Given the description of an element on the screen output the (x, y) to click on. 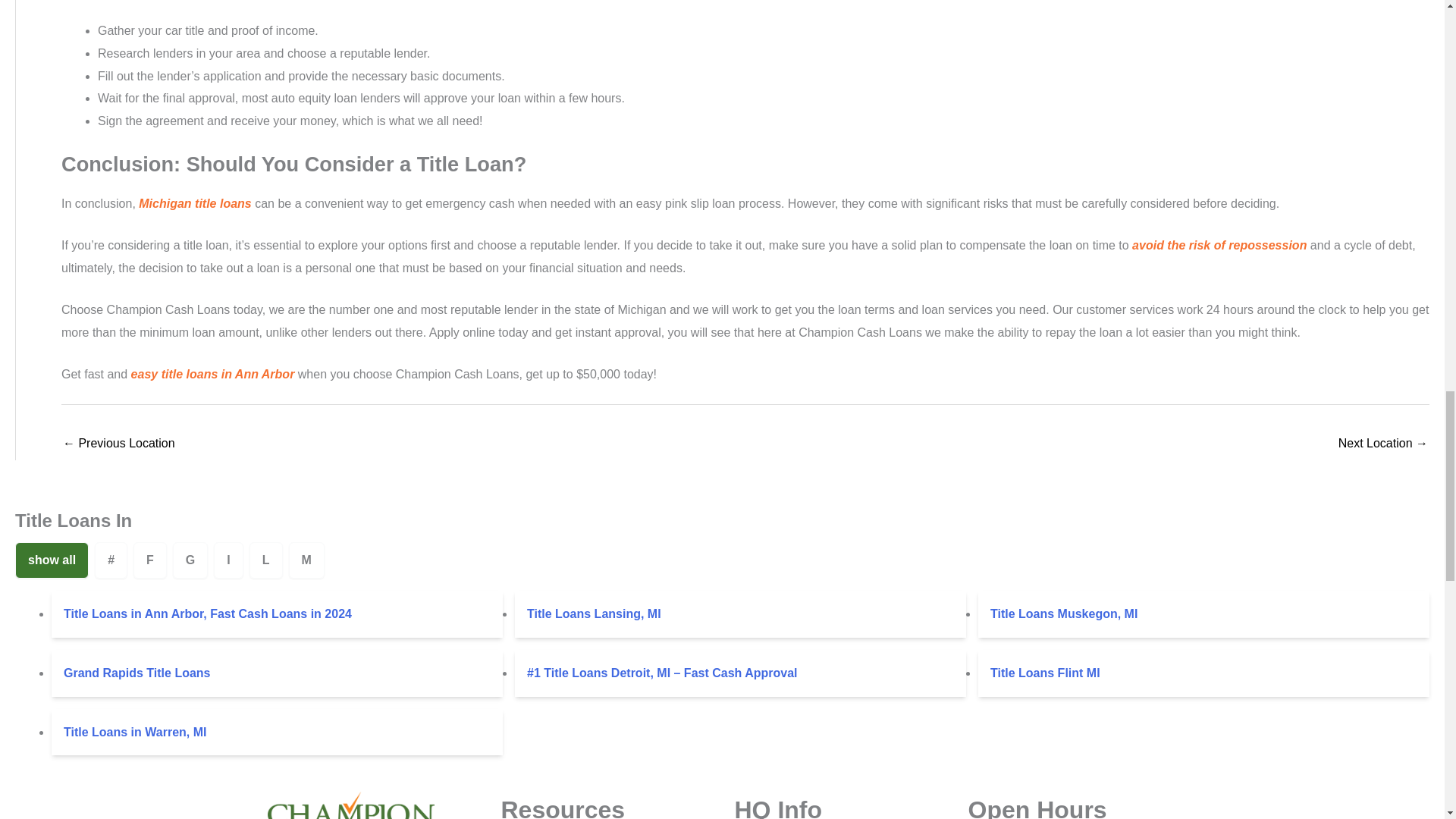
Grand Rapids Title Loans (276, 673)
Michigan title loans (194, 203)
Title Loans in Warren, MI (276, 732)
Title Loans in Meridian, ID (1383, 444)
Title Loans Muskegon, MI (1203, 614)
Title Loans Lansing, MI (740, 614)
Title Loans in Murray, KY (118, 444)
avoid the risk of repossession (1219, 245)
easy title loans in Ann Arbor (213, 373)
Title Loans Flint MI (1203, 673)
Title Loans in Ann Arbor, Fast Cash Loans in 2024 (276, 614)
